Given the description of an element on the screen output the (x, y) to click on. 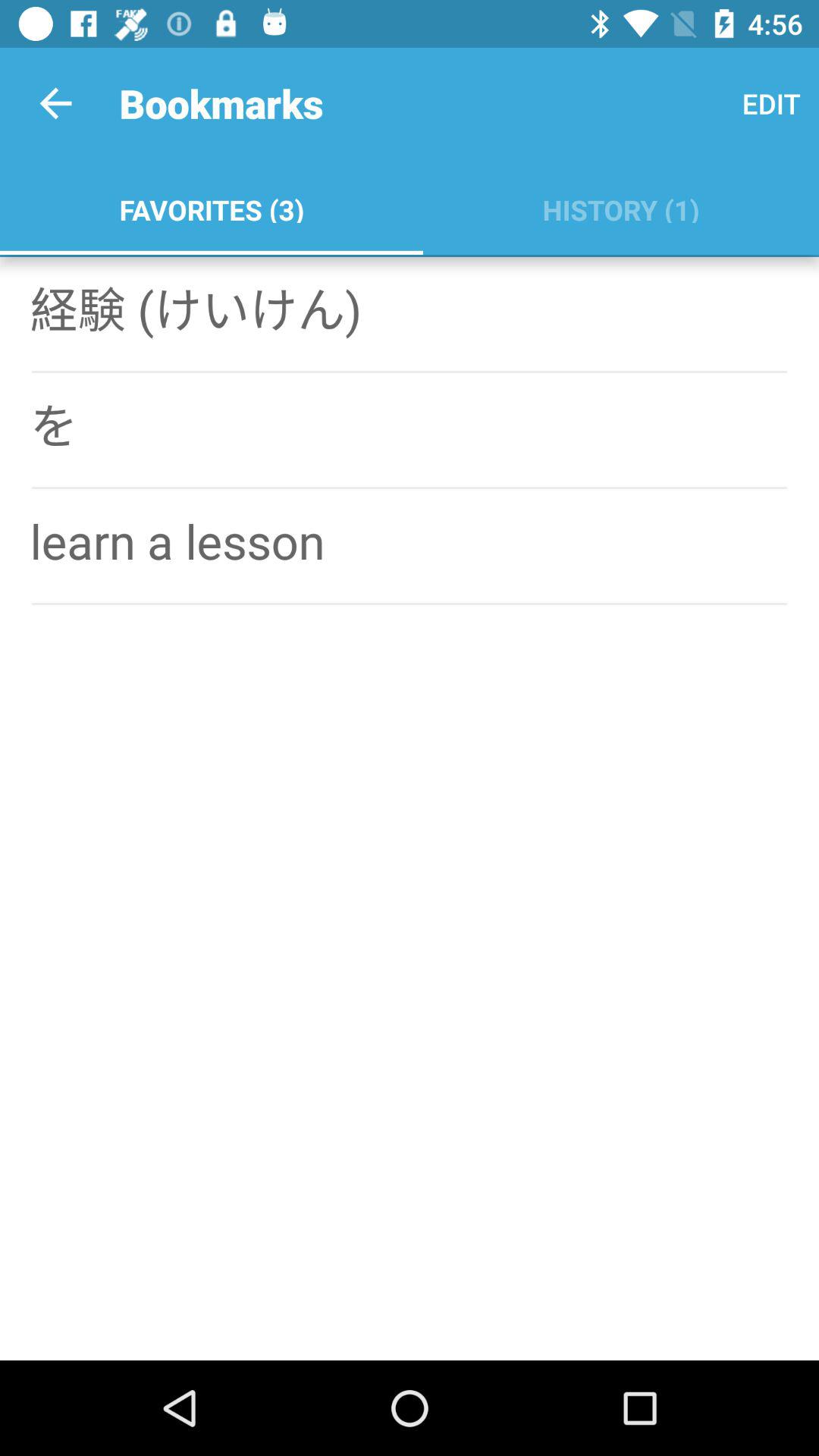
launch the icon next to the bookmarks icon (55, 103)
